Given the description of an element on the screen output the (x, y) to click on. 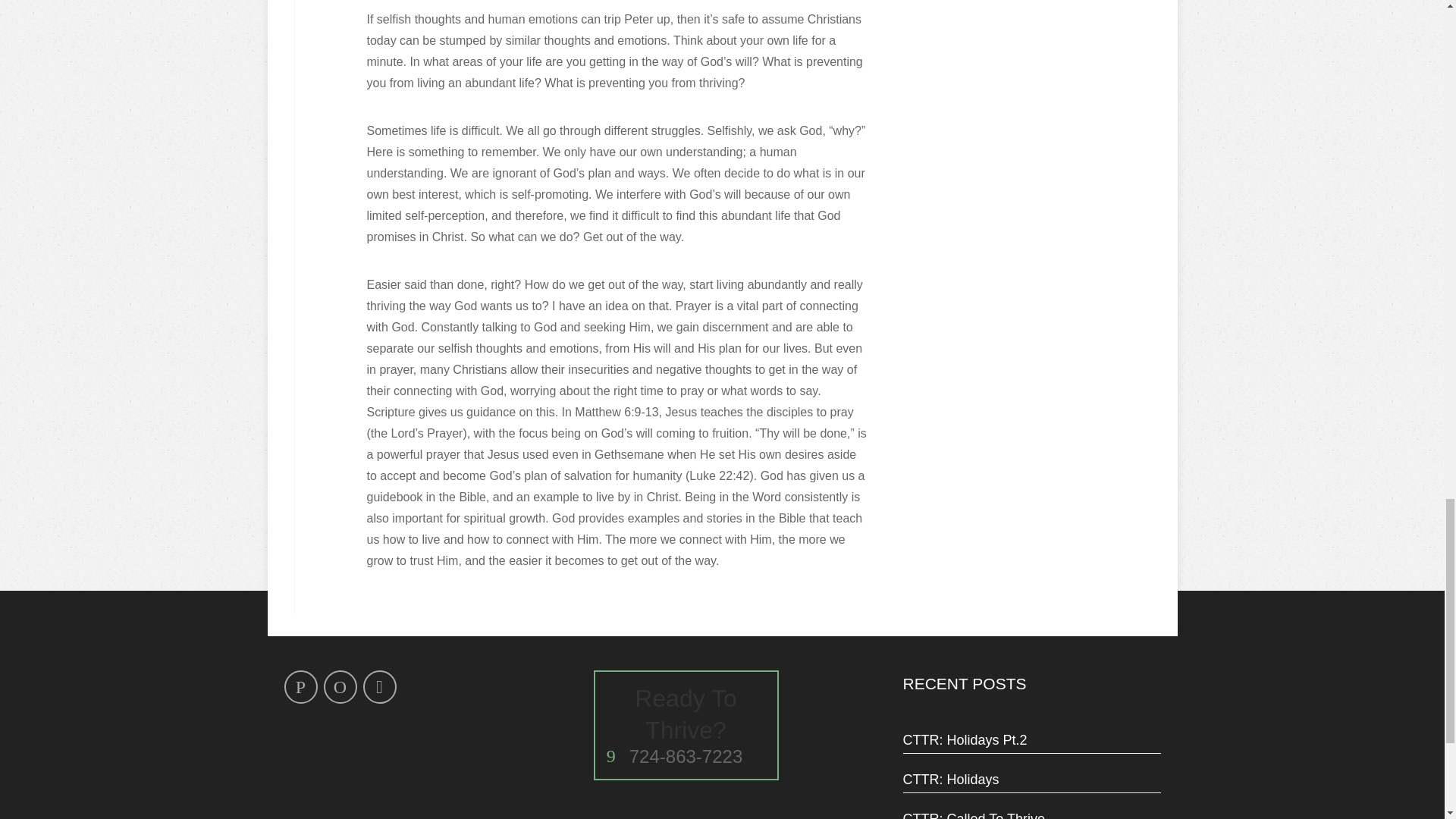
CTTR: Called To Thrive (685, 725)
CTTR: Holidays (1031, 815)
CTTR: Holidays Pt.2 (1031, 779)
